Given the description of an element on the screen output the (x, y) to click on. 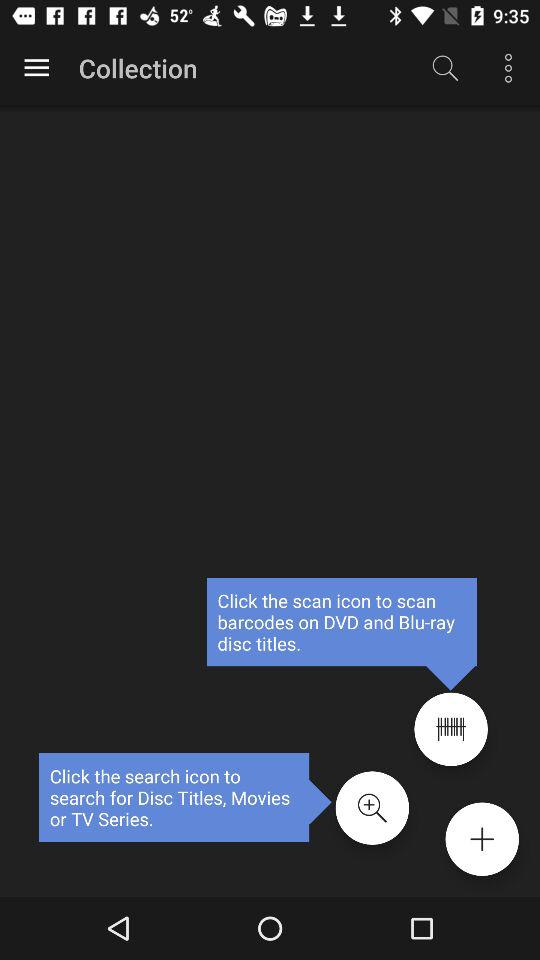
add options (482, 839)
